Given the description of an element on the screen output the (x, y) to click on. 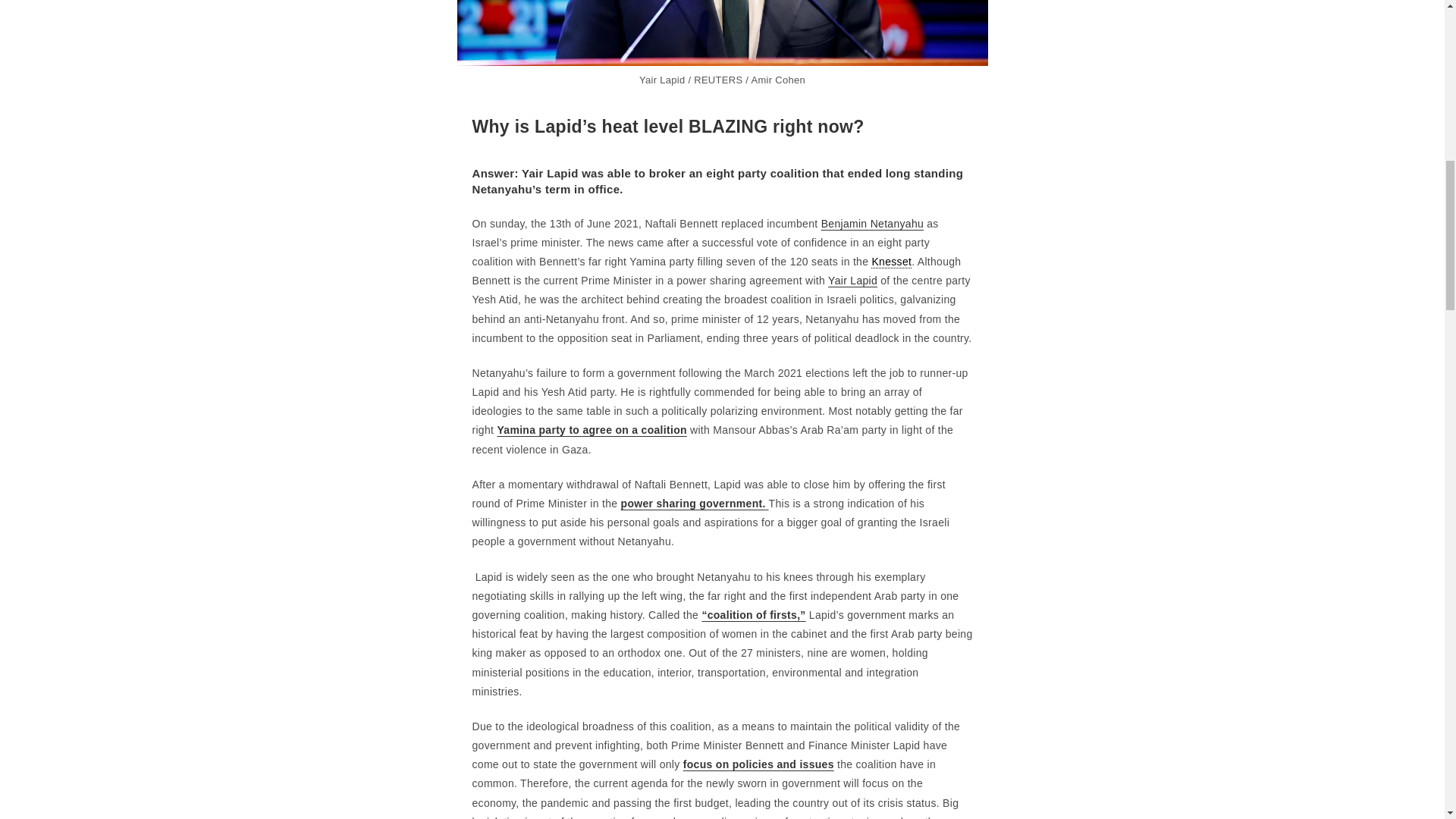
Yamina party to agree on a coalition (590, 429)
Benjamin Netanyahu (872, 223)
Knesset (890, 261)
Yair Lapid (852, 280)
